Given the description of an element on the screen output the (x, y) to click on. 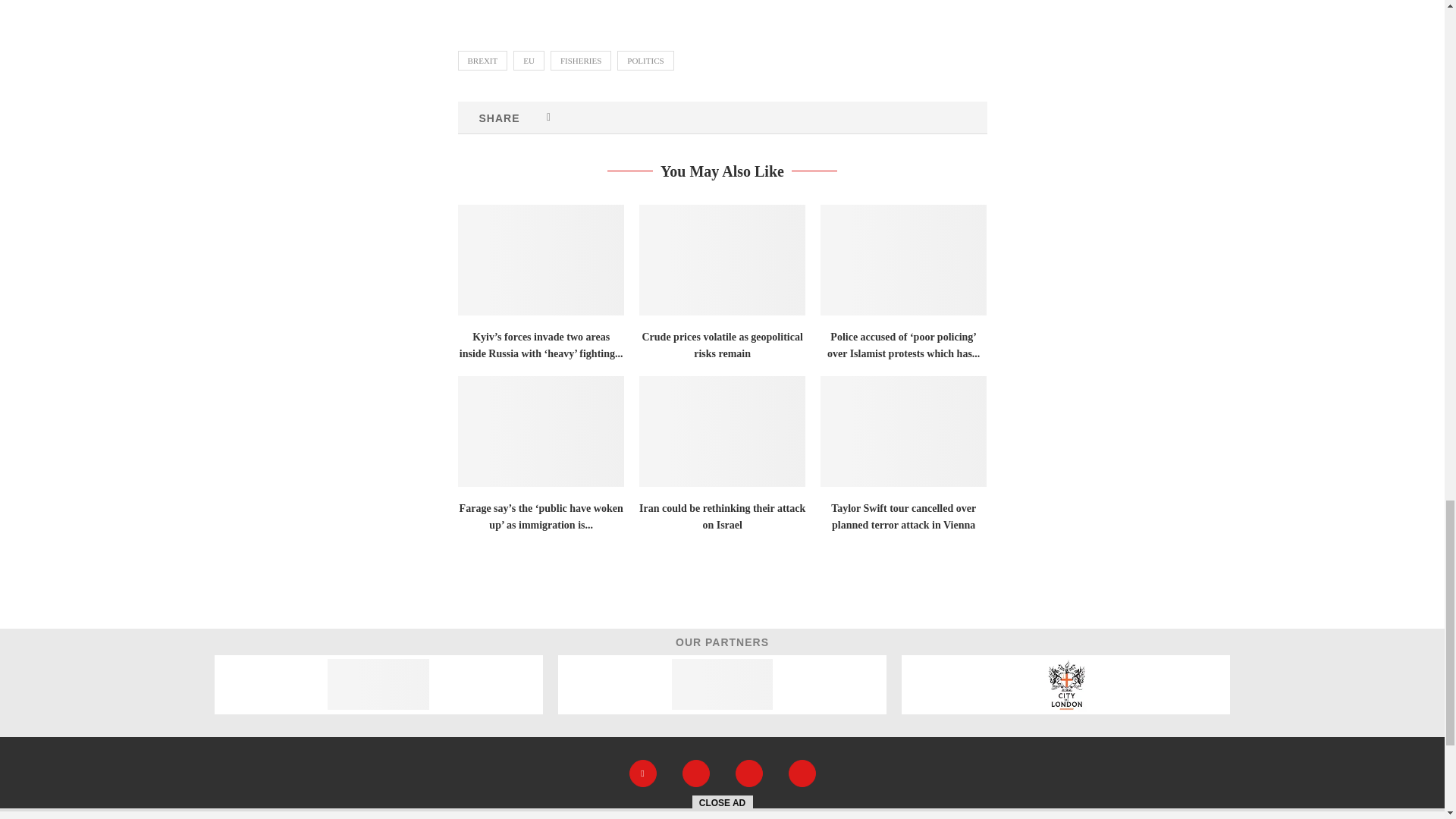
Crude prices volatile as geopolitical risks remain (722, 259)
Iran could be rethinking their attack on Israel (722, 430)
